Given the description of an element on the screen output the (x, y) to click on. 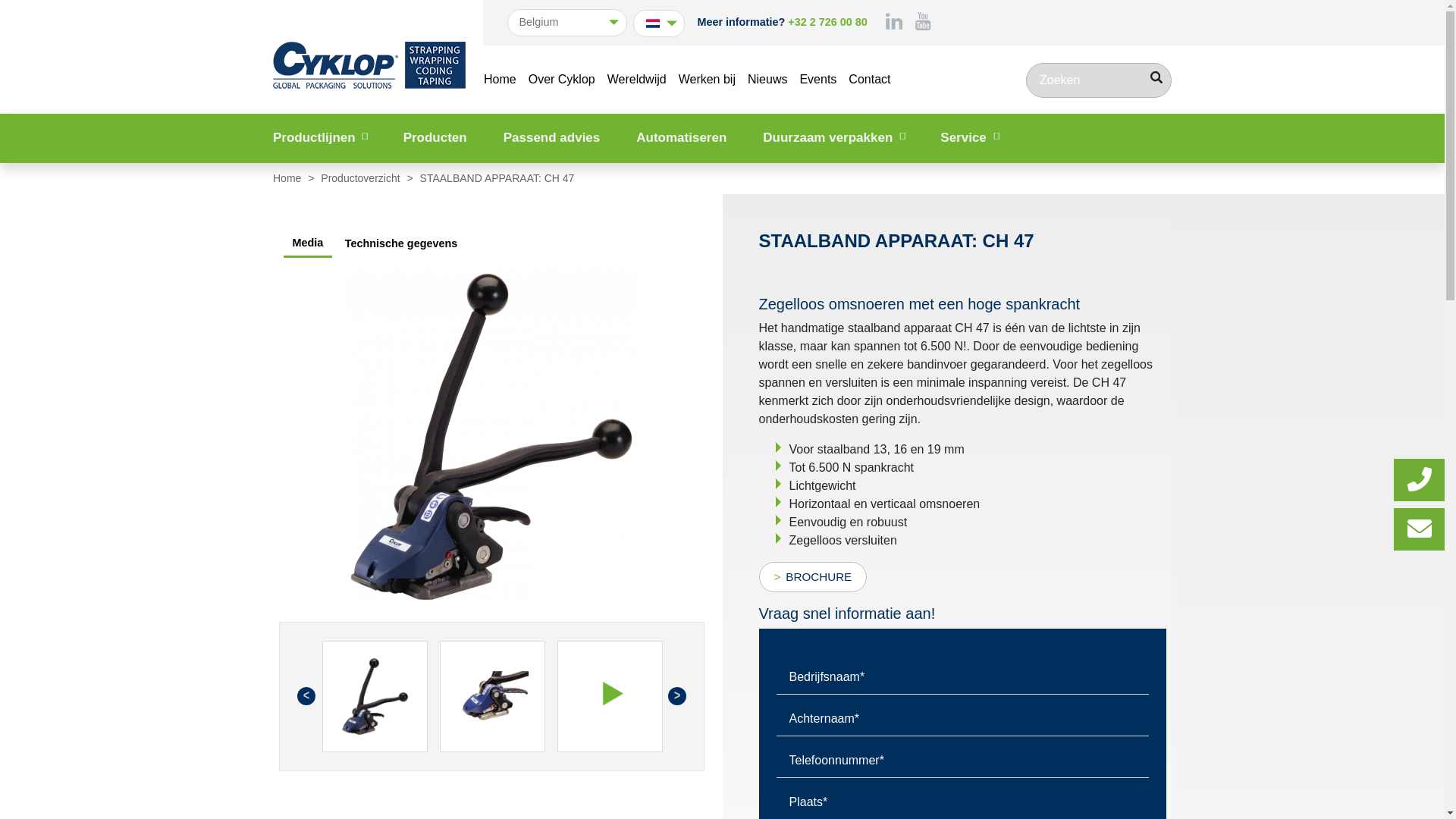
Nieuws Element type: text (767, 79)
Over Cyklop Element type: text (561, 79)
Wereldwijd Element type: text (636, 79)
Home Element type: text (499, 79)
Media Element type: text (307, 244)
BROCHURE Element type: text (812, 576)
Producten Element type: text (435, 137)
Productlijnen Element type: text (320, 137)
Passend advies Element type: text (551, 137)
Previous Element type: text (306, 696)
Productoverzicht Element type: text (361, 177)
Contact Element type: text (869, 79)
STAALBAND APPARAAT: CH 47 Element type: hover (373, 696)
Next Element type: text (676, 696)
STAALBAND APPARAAT: CH 47 Element type: hover (492, 696)
Technische gegevens Element type: text (401, 244)
Home Element type: text (288, 177)
Events Element type: text (817, 79)
+32 2 726 00 80 Element type: text (826, 22)
Duurzaam verpakken Element type: text (832, 137)
Staalband Omsnoeringsapparaat CH 47- Side Element type: hover (491, 436)
Service Element type: text (968, 137)
Automatiseren Element type: text (681, 137)
Werken bij Element type: text (706, 79)
